Given the description of an element on the screen output the (x, y) to click on. 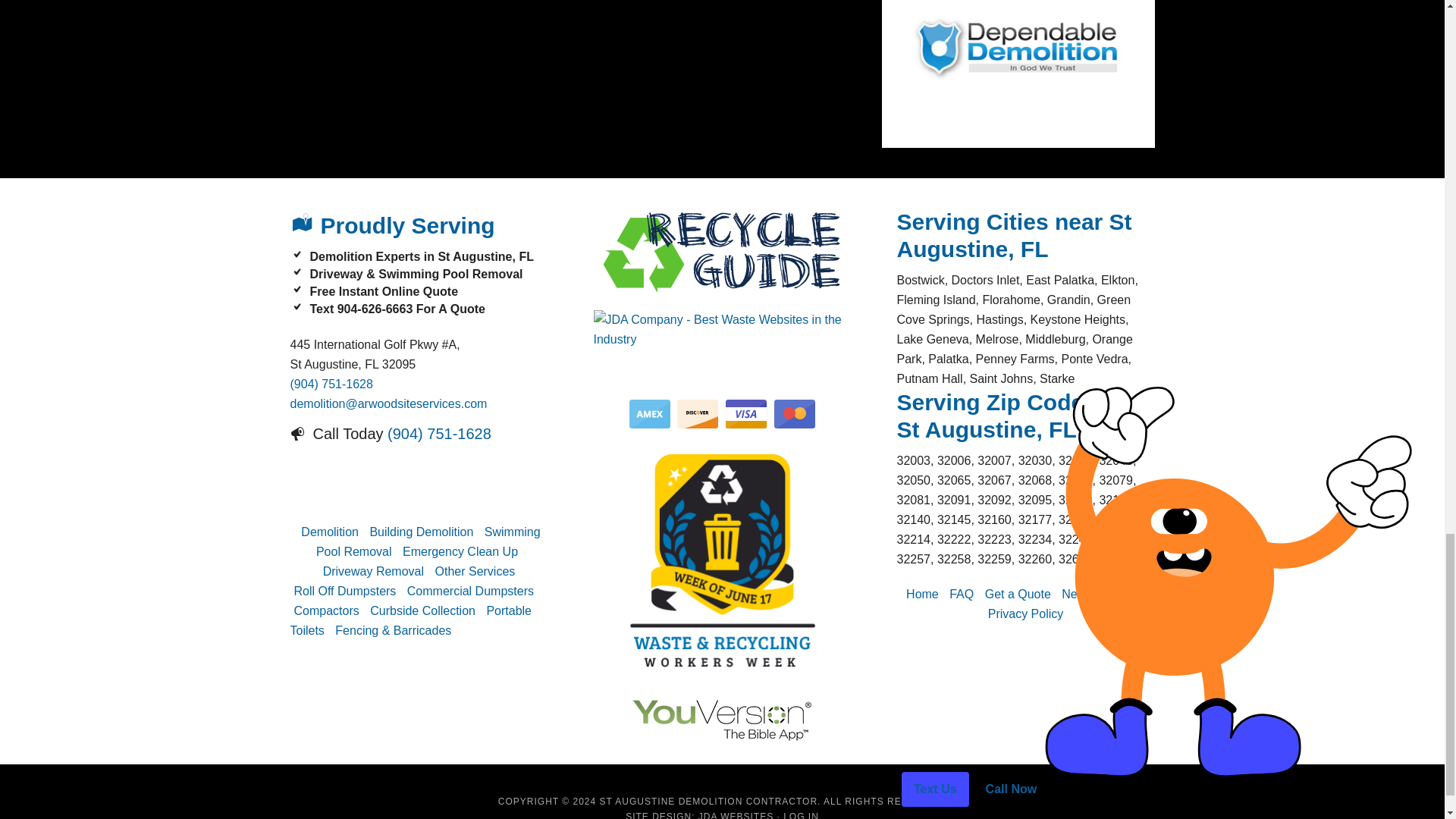
Recycle Guide (721, 249)
JDA Websites - Building the Best Waste Sites in the Industry (735, 815)
National Garbage Man Day (721, 563)
